Given the description of an element on the screen output the (x, y) to click on. 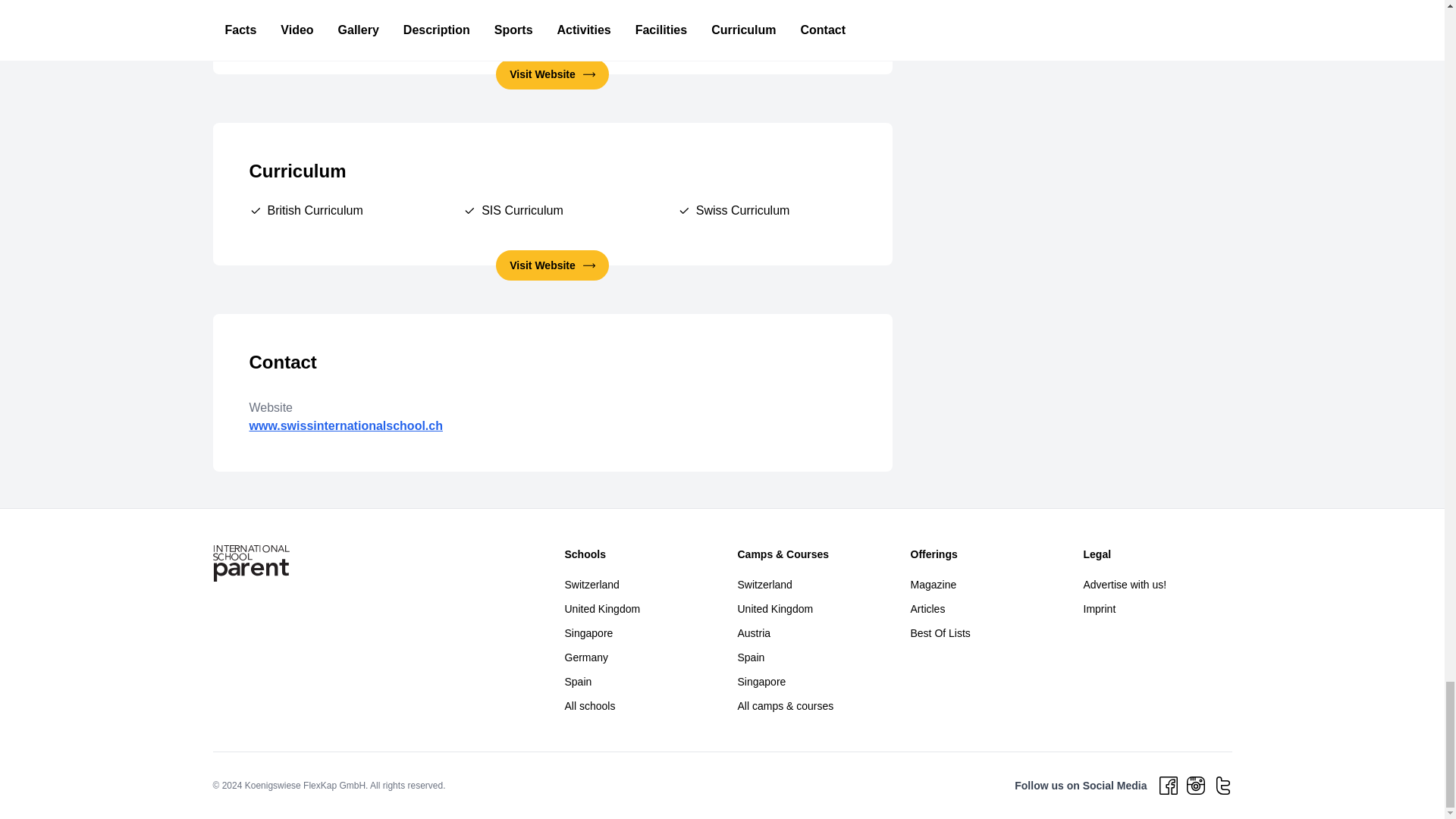
www.swissinternationalschool.ch (345, 425)
Visit Website (552, 265)
Visit Website (552, 73)
